Given the description of an element on the screen output the (x, y) to click on. 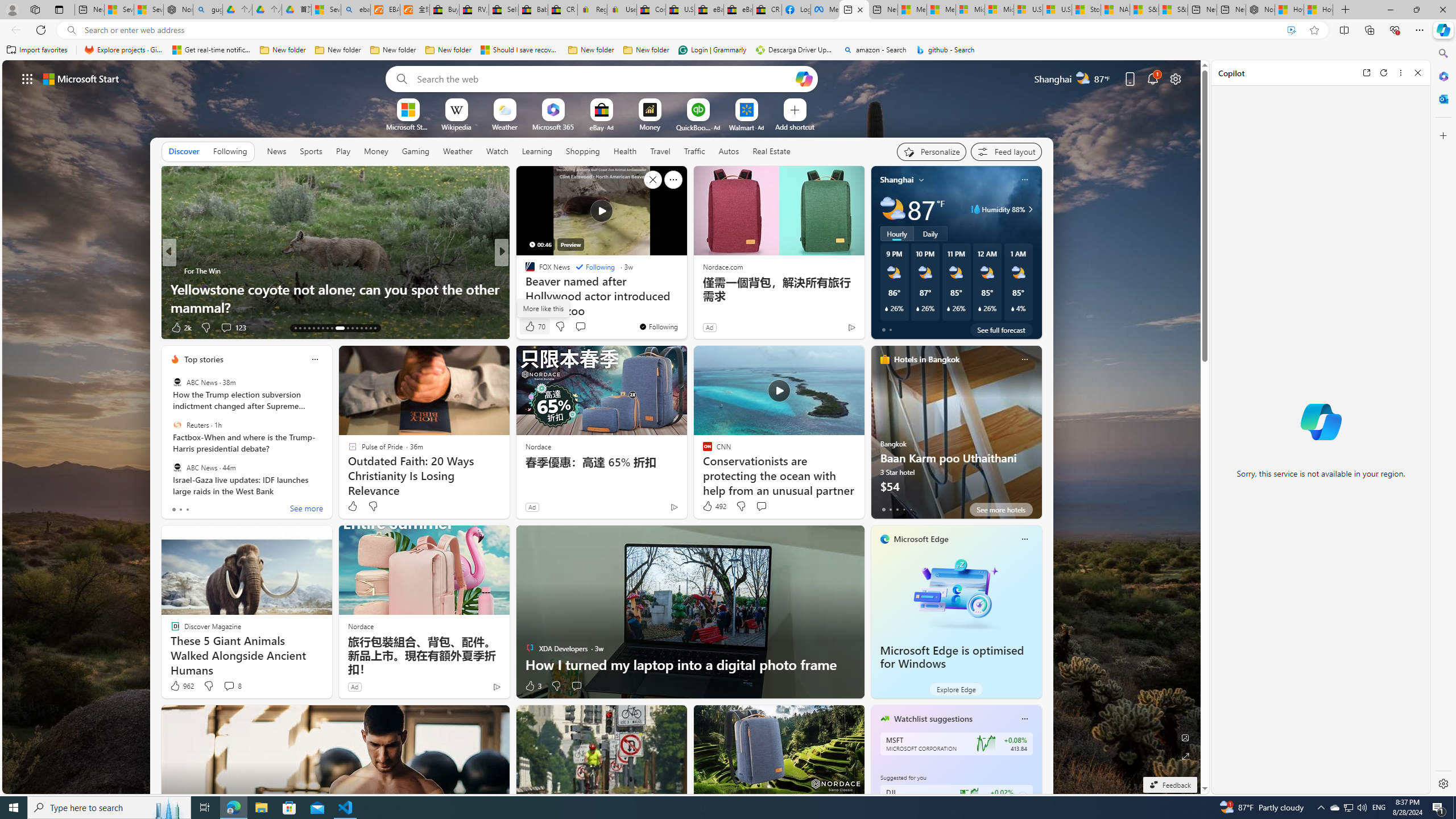
Microsoft Edge (921, 538)
3 Like (532, 685)
Is It Better to Work Out with More Weight or More Reps? (684, 298)
Wikipedia (456, 126)
AutomationID: tab-25 (356, 328)
Learning (536, 151)
Health (624, 151)
492 Like (713, 505)
